Given the description of an element on the screen output the (x, y) to click on. 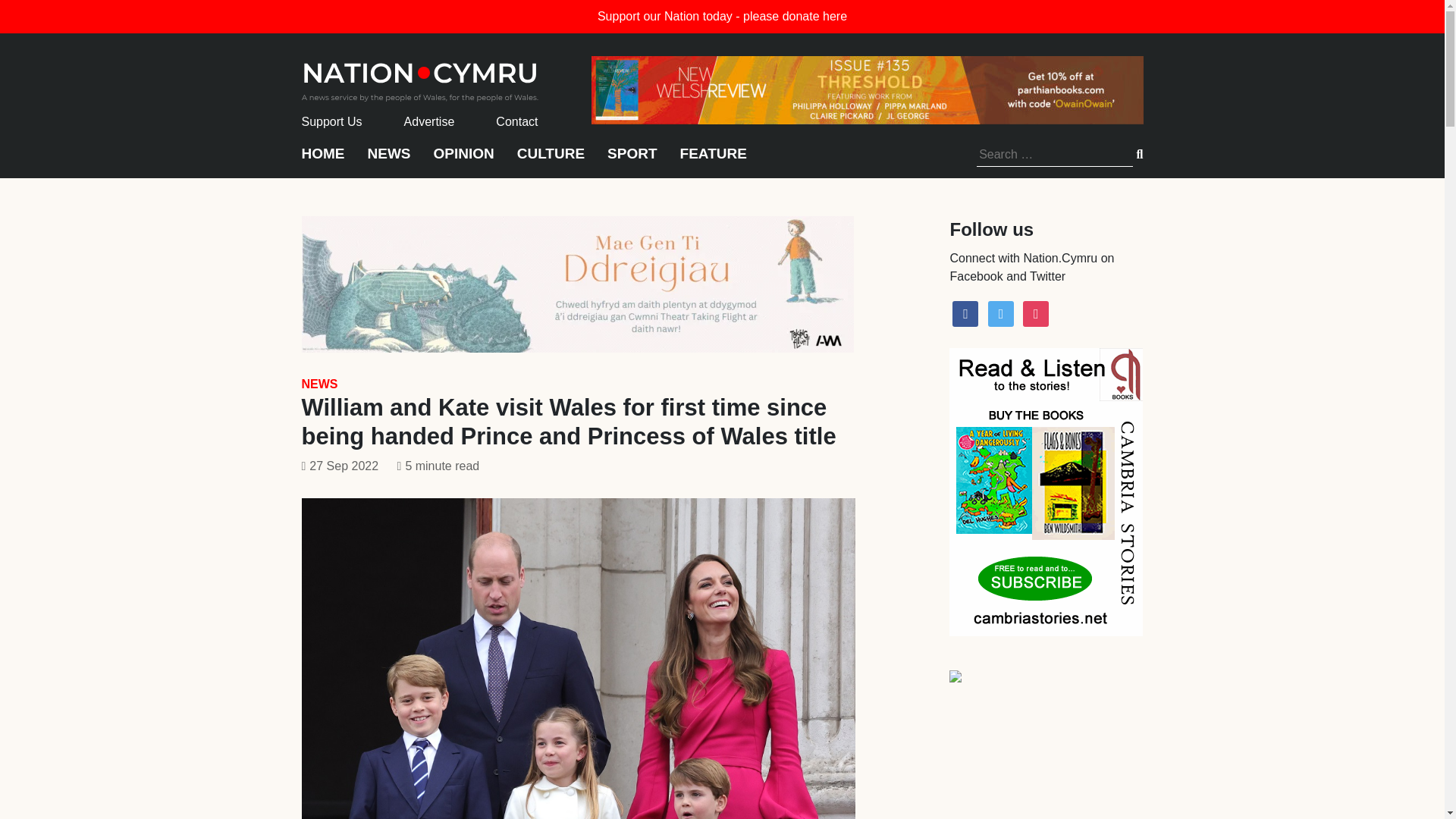
FEATURE (712, 160)
SPORT (631, 160)
OPINION (464, 160)
HOME (323, 160)
CULTURE (550, 160)
home (419, 77)
NEWS (388, 160)
NEWS (319, 383)
Support Us (331, 121)
Advertise (429, 121)
Contact (516, 121)
